Given the description of an element on the screen output the (x, y) to click on. 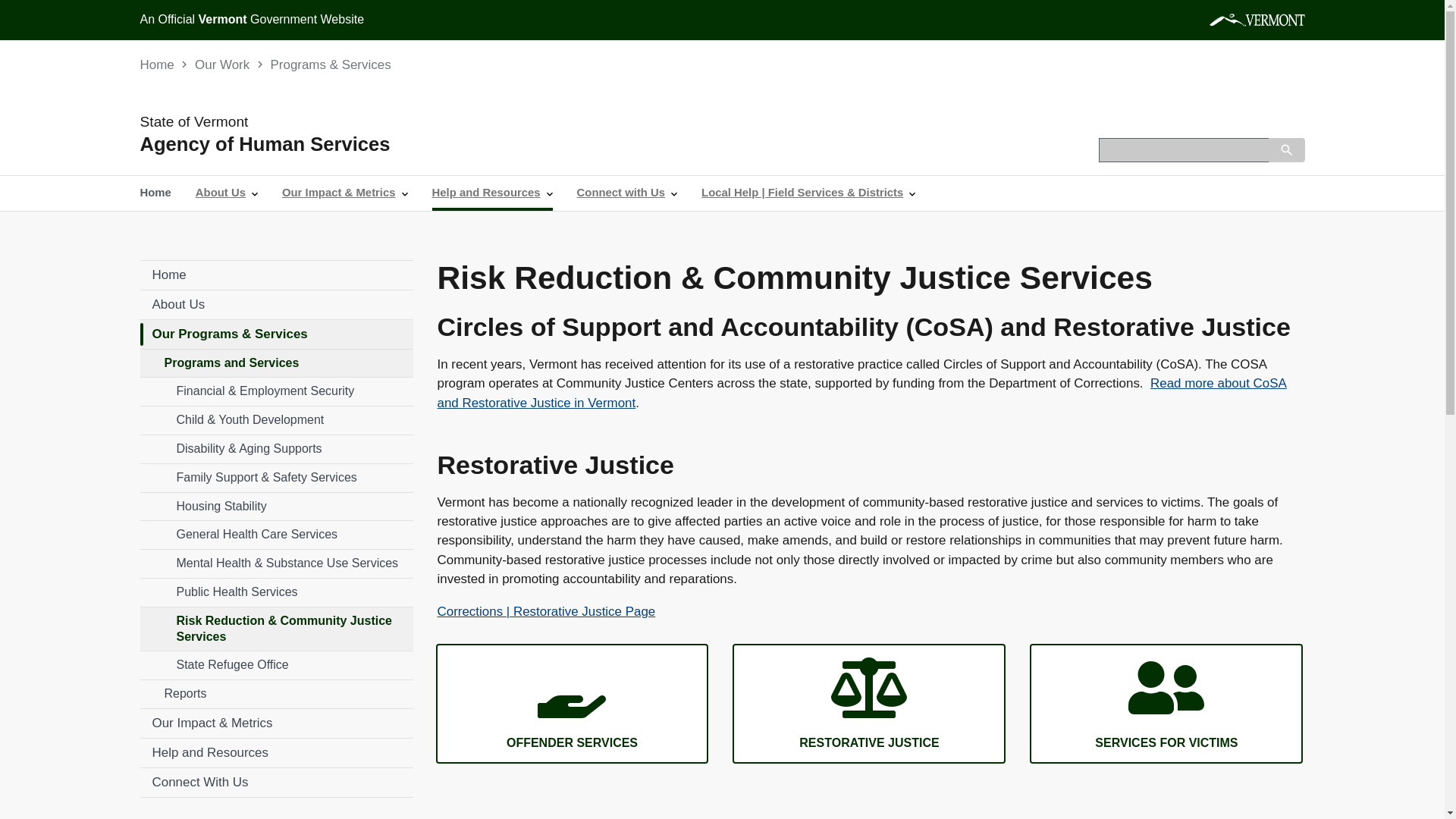
Home (275, 275)
About Us (226, 192)
Agency of Human Services (299, 144)
An Official Vermont Government Website (251, 19)
Connect with Us (627, 192)
Home (299, 144)
About Us (275, 304)
Home (156, 64)
Our Work (221, 64)
Home (155, 192)
